Given the description of an element on the screen output the (x, y) to click on. 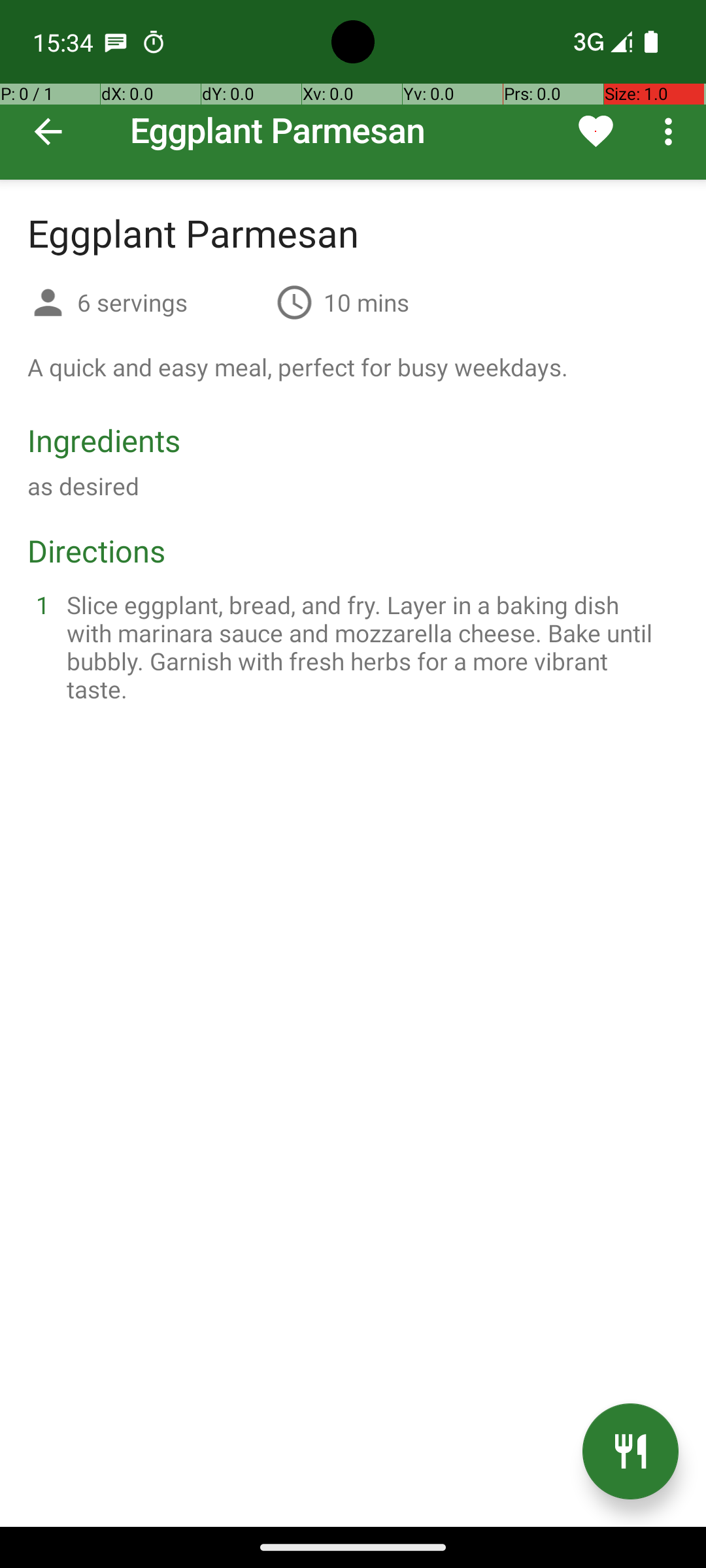
Slice eggplant, bread, and fry. Layer in a baking dish with marinara sauce and mozzarella cheese. Bake until bubbly. Garnish with fresh herbs for a more vibrant taste. Element type: android.widget.TextView (368, 646)
